Given the description of an element on the screen output the (x, y) to click on. 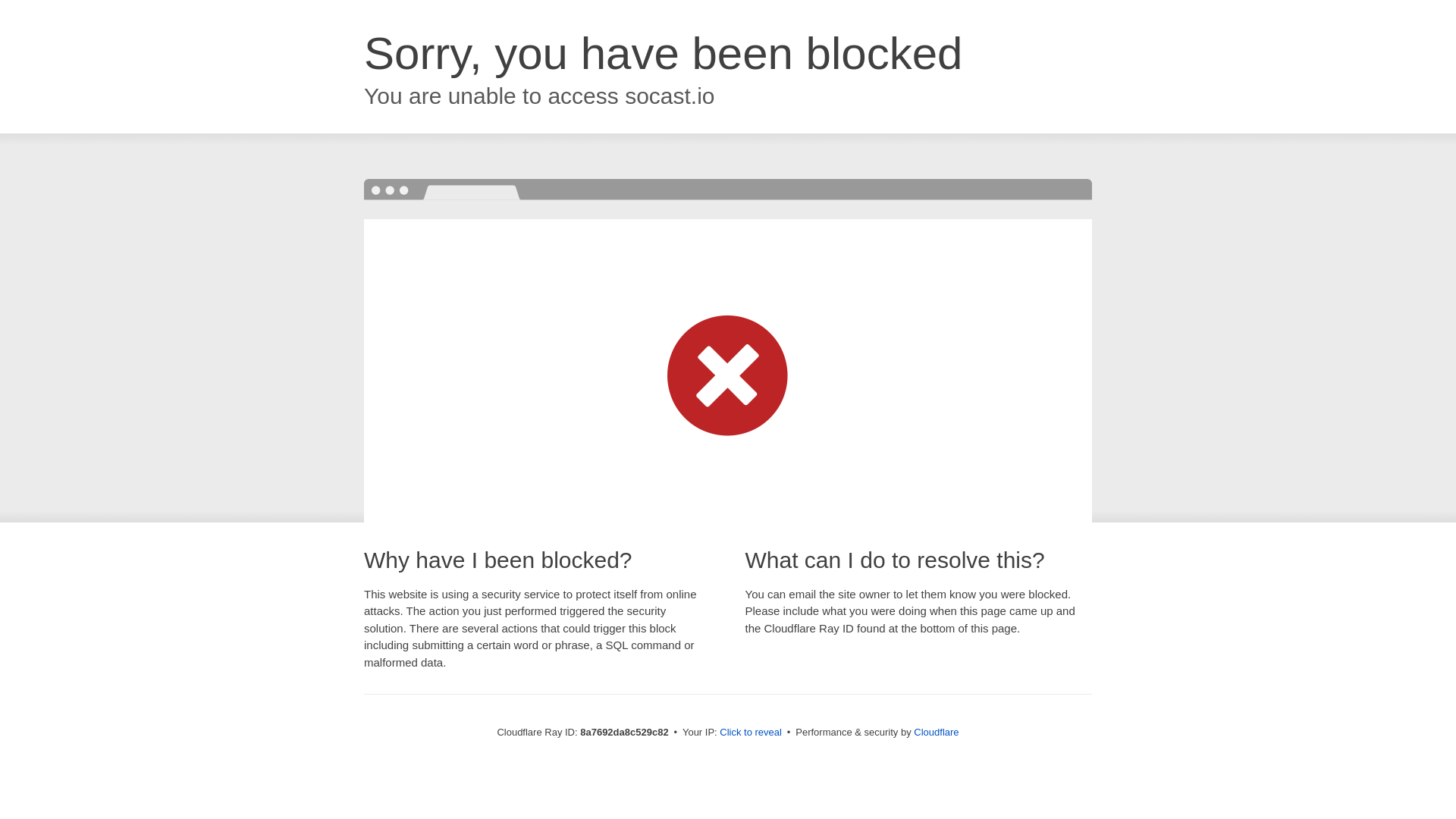
Click to reveal (750, 732)
Cloudflare (936, 731)
